Given the description of an element on the screen output the (x, y) to click on. 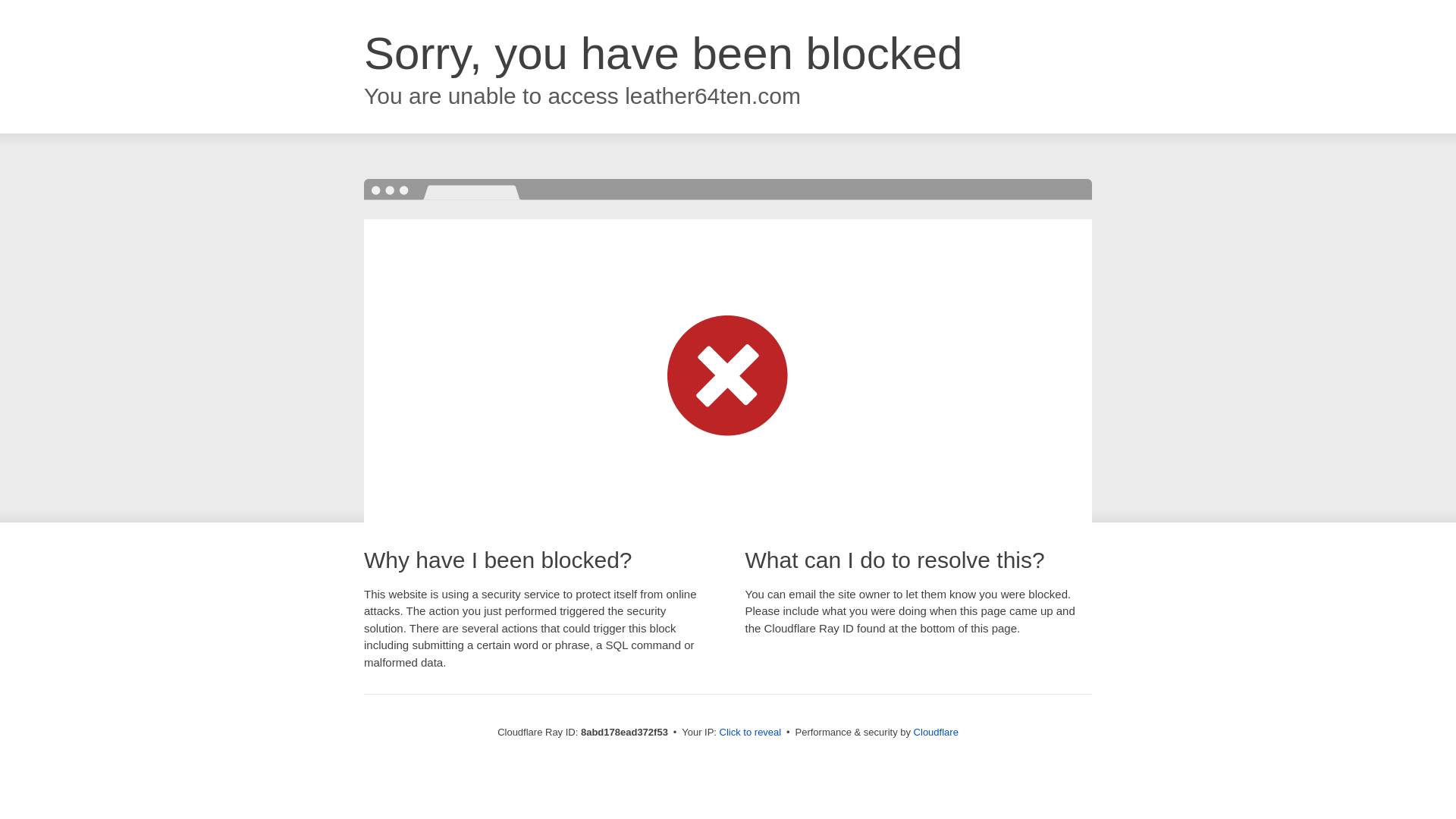
Cloudflare (936, 731)
Click to reveal (750, 732)
